Given the description of an element on the screen output the (x, y) to click on. 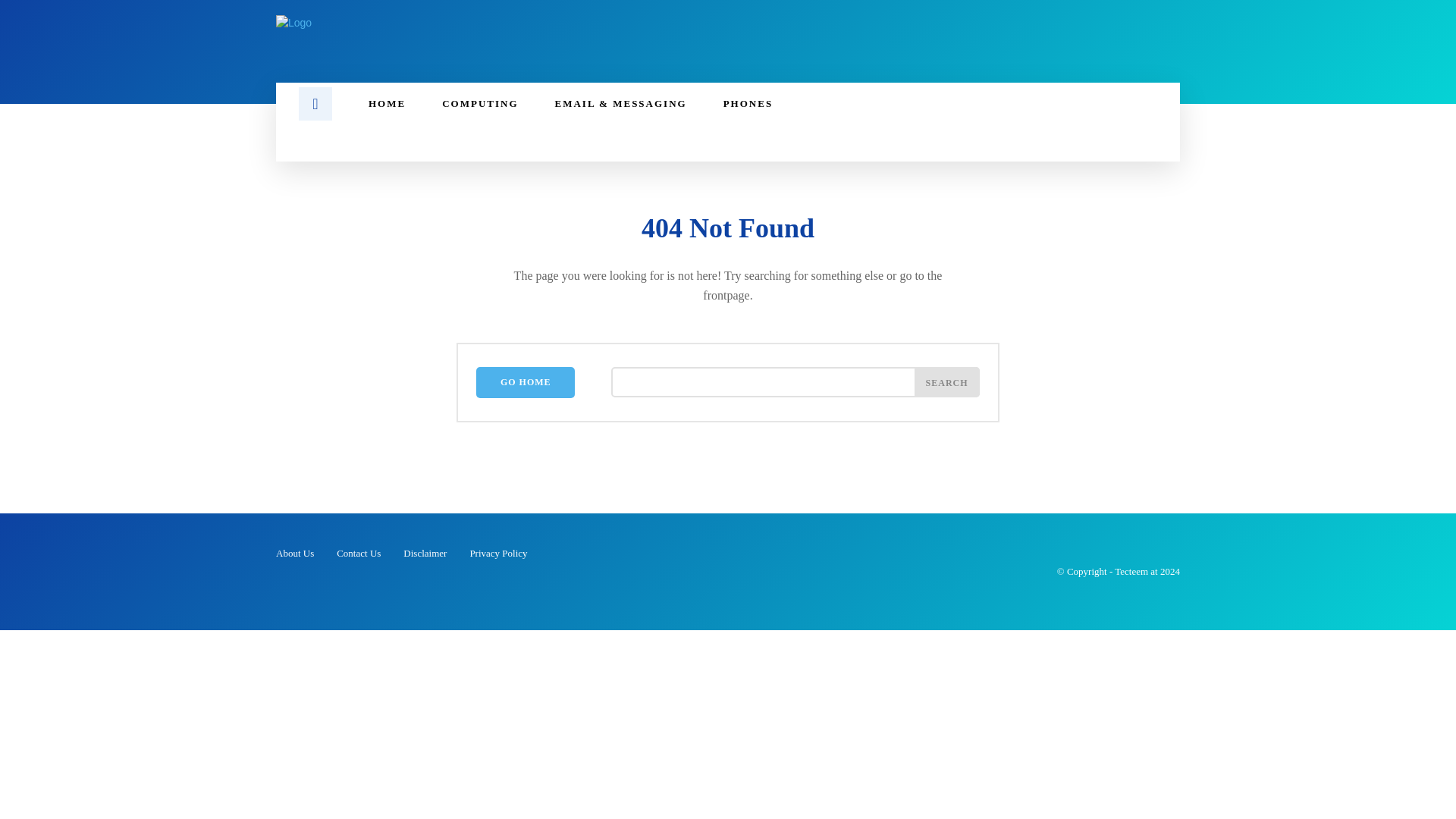
PHONES (747, 103)
HOME (386, 103)
Disclaimer (424, 553)
GO HOME (525, 382)
Go home (525, 382)
Contact Us (358, 553)
About Us (295, 553)
COMPUTING (479, 103)
SEARCH (946, 381)
Privacy Policy (497, 553)
